Given the description of an element on the screen output the (x, y) to click on. 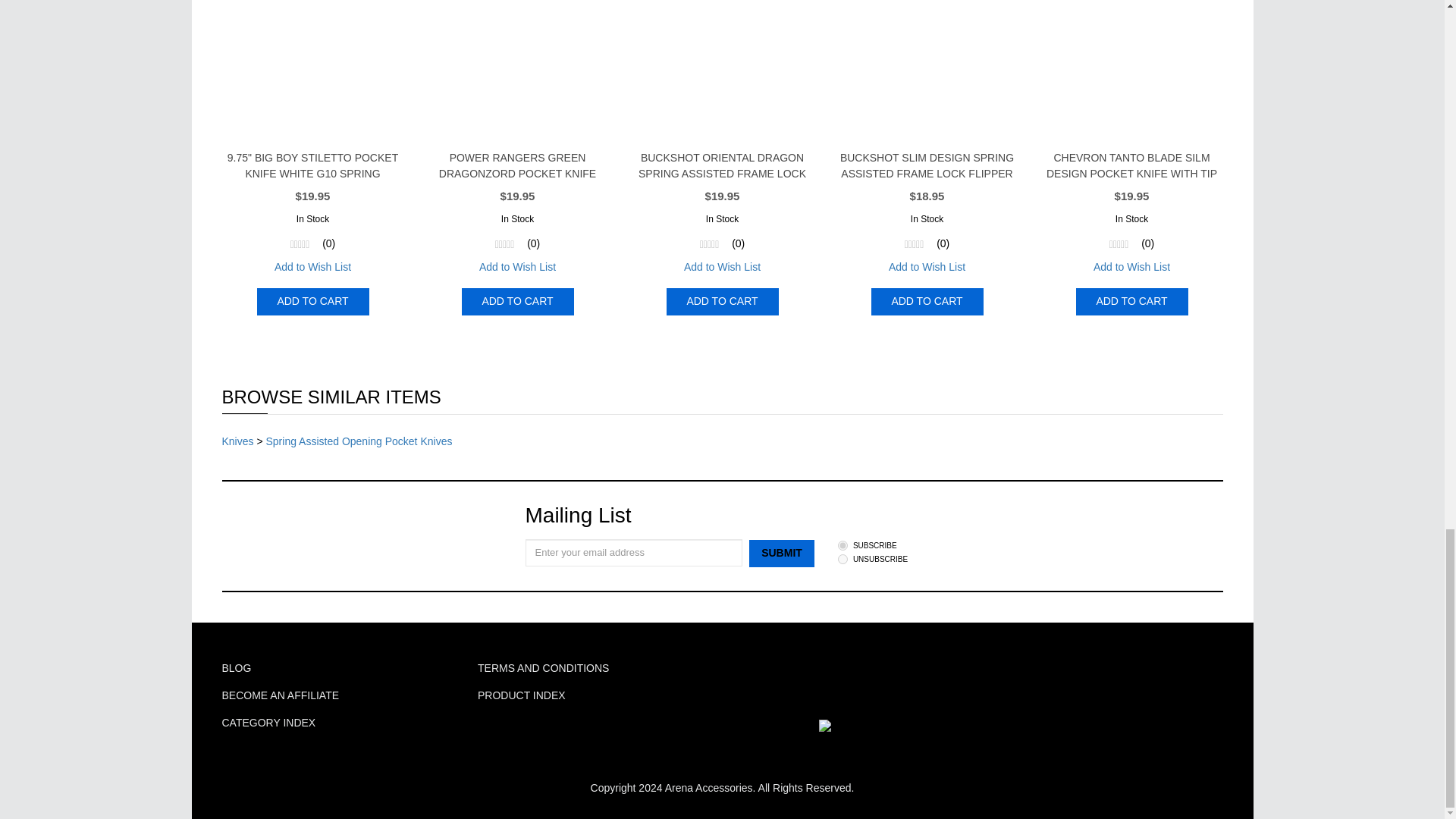
0 (842, 559)
1 (842, 545)
